Given the description of an element on the screen output the (x, y) to click on. 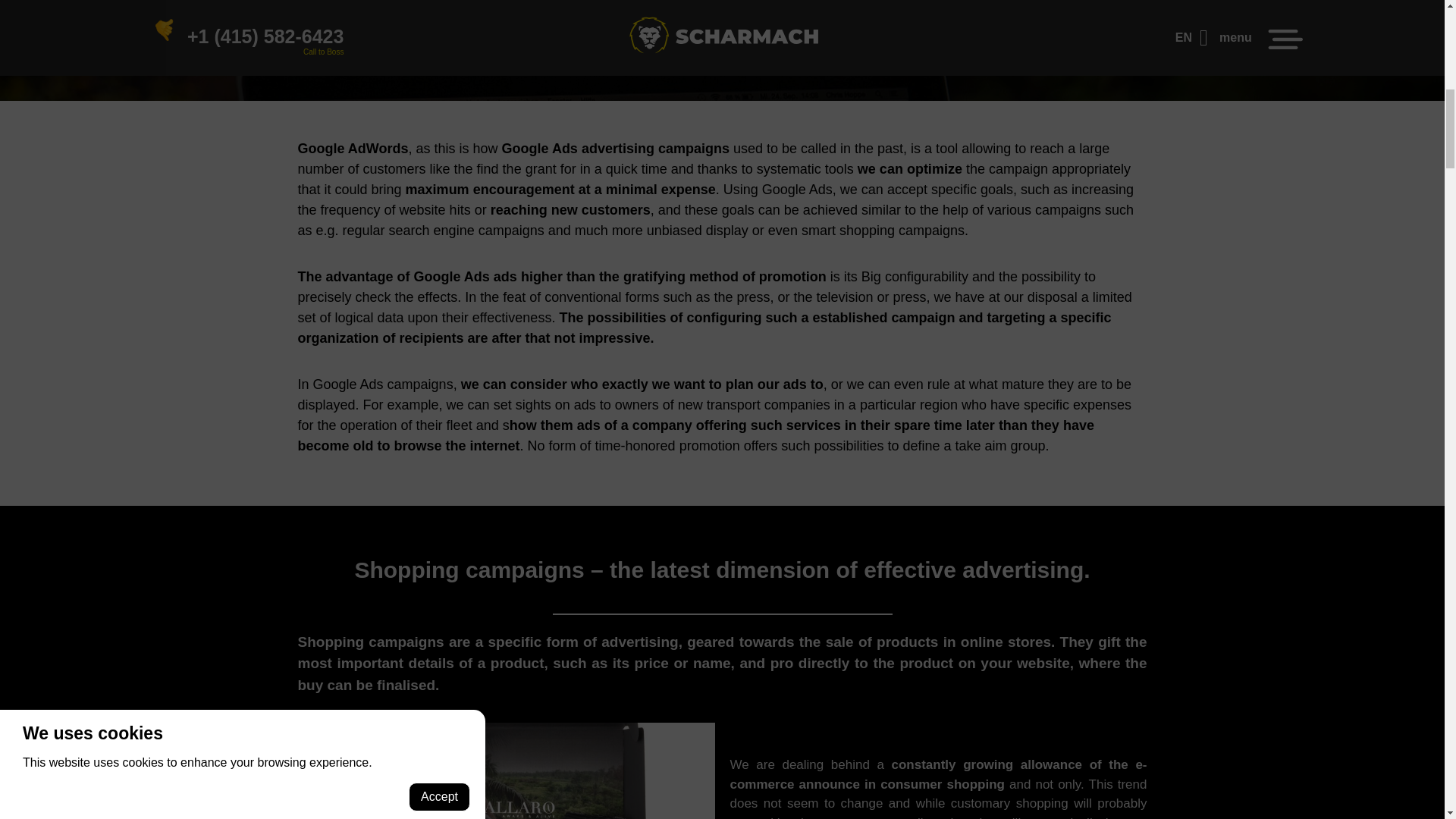
ESTABLISH COOPERATION WITH US (722, 31)
